Given the description of an element on the screen output the (x, y) to click on. 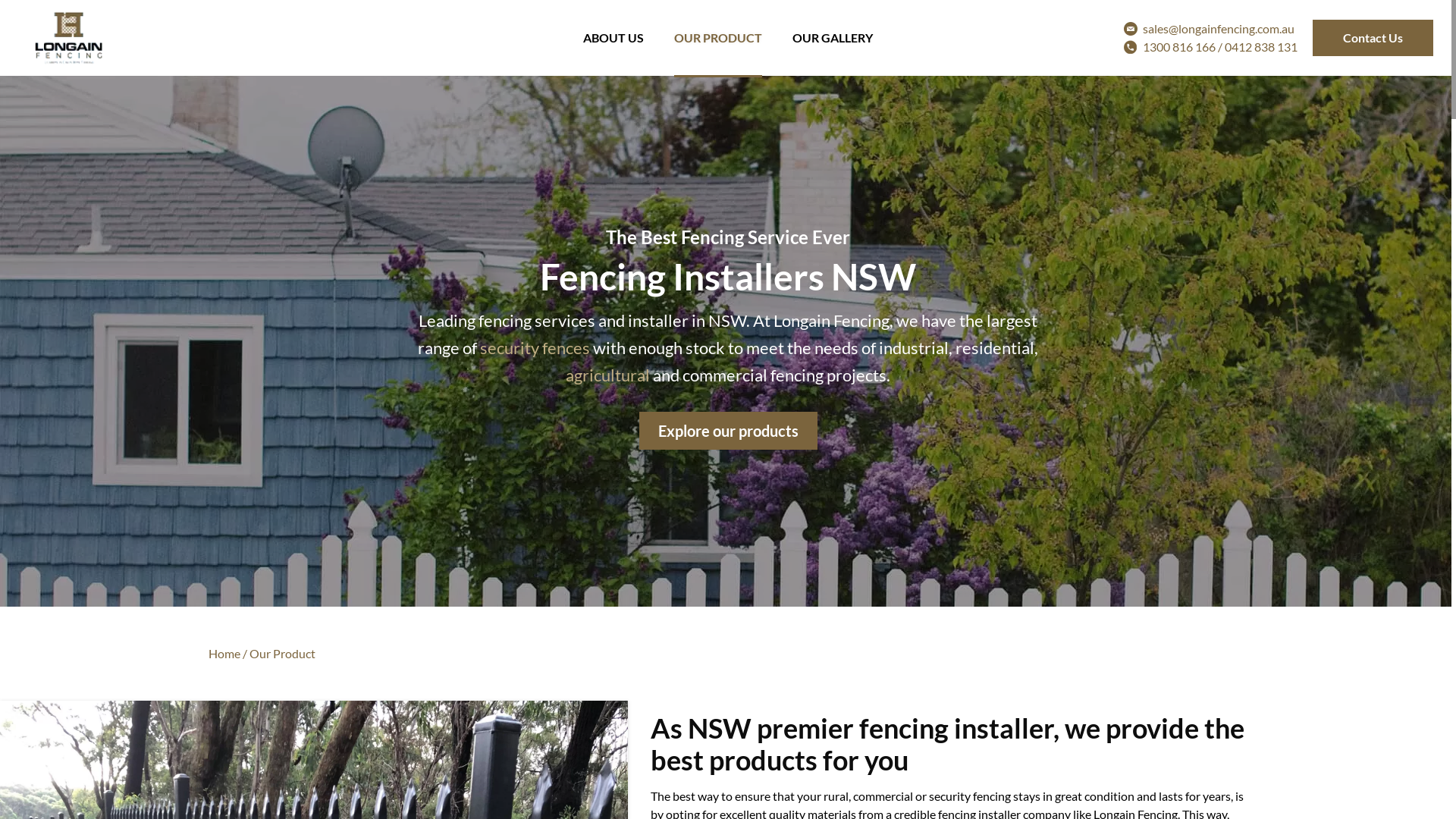
Contact Us Element type: text (1372, 37)
OUR GALLERY Element type: text (832, 37)
Fencing supplier and Installer in Sydney and surrounds! Element type: hover (68, 37)
OUR PRODUCT Element type: text (718, 38)
1300 816 166 / Element type: text (1183, 46)
Home Element type: text (224, 653)
Explore our products Element type: text (727, 430)
agricultural Element type: text (607, 374)
security fences Element type: text (534, 347)
Our Product Element type: text (282, 653)
0412 838 131 Element type: text (1260, 46)
ABOUT US Element type: text (613, 37)
sales@longainfencing.com.au Element type: text (1218, 28)
